Given the description of an element on the screen output the (x, y) to click on. 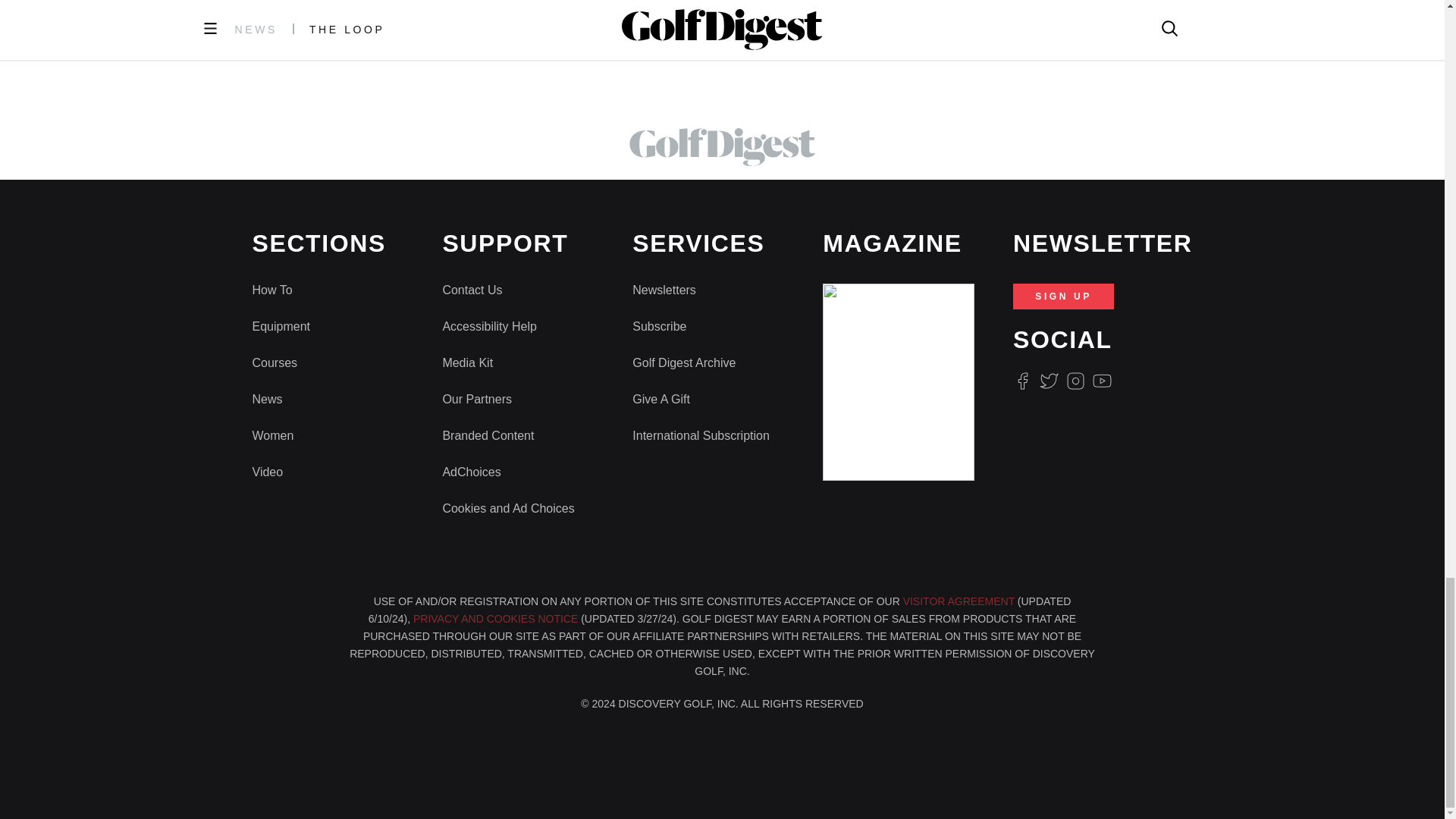
Twitter Logo (1048, 380)
Youtube Icon (1102, 380)
Facebook Logo (1022, 380)
Instagram Logo (1074, 380)
